Given the description of an element on the screen output the (x, y) to click on. 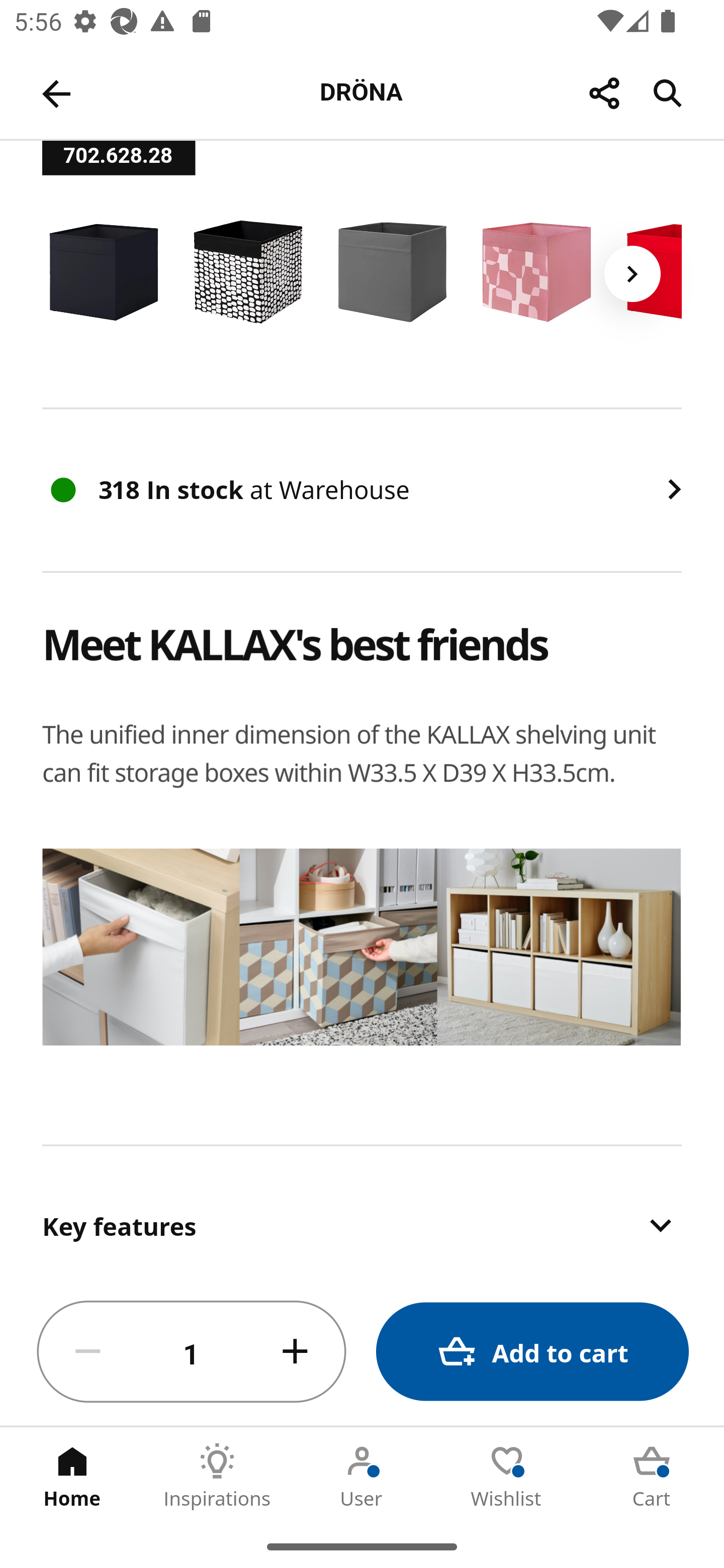
318 In stock at Warehouse (361, 489)
kallax (362, 967)
Key features (361, 1212)
Add to cart (531, 1352)
1 (191, 1352)
Home
Tab 1 of 5 (72, 1476)
Inspirations
Tab 2 of 5 (216, 1476)
User
Tab 3 of 5 (361, 1476)
Wishlist
Tab 4 of 5 (506, 1476)
Cart
Tab 5 of 5 (651, 1476)
